Given the description of an element on the screen output the (x, y) to click on. 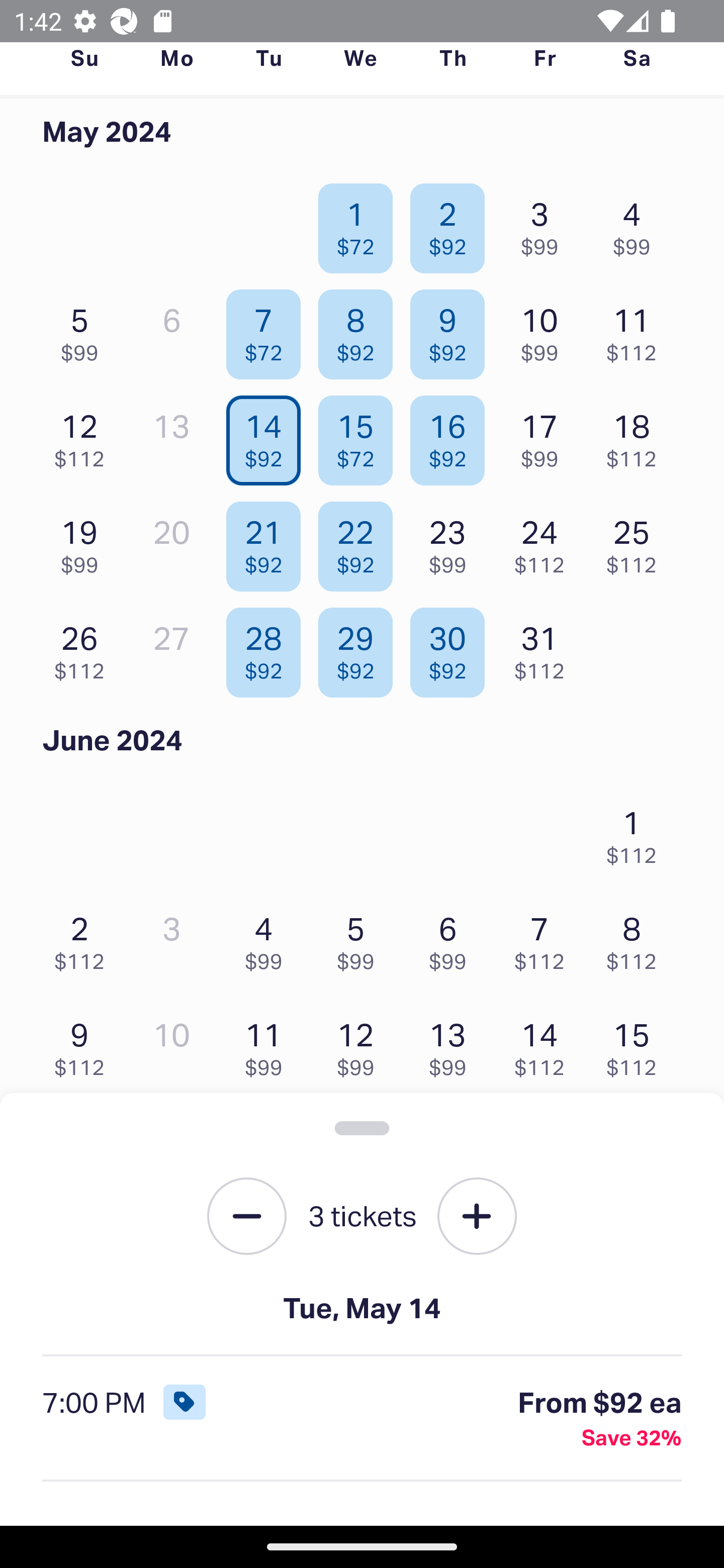
1 $72 (360, 223)
2 $92 (452, 223)
3 $99 (544, 223)
4 $99 (636, 223)
5 $99 (84, 329)
7 $72 (268, 329)
8 $92 (360, 329)
9 $92 (452, 329)
10 $99 (544, 329)
11 $112 (636, 329)
12 $112 (84, 435)
14 $92 (268, 435)
15 $72 (360, 435)
16 $92 (452, 435)
17 $99 (544, 435)
18 $112 (636, 435)
19 $99 (84, 541)
21 $92 (268, 541)
22 $92 (360, 541)
23 $99 (452, 541)
24 $112 (544, 541)
25 $112 (636, 541)
26 $112 (84, 647)
28 $92 (268, 647)
29 $92 (360, 647)
30 $92 (452, 647)
31 $112 (544, 647)
1 $112 (636, 831)
2 $112 (84, 938)
4 $99 (268, 938)
5 $99 (360, 938)
6 $99 (452, 938)
7 $112 (544, 938)
8 $112 (636, 938)
9 $112 (84, 1044)
11 $99 (268, 1044)
12 $99 (360, 1044)
13 $99 (452, 1044)
14 $112 (544, 1044)
15 $112 (636, 1044)
7:00 PM From $92 ea Save 32% (361, 1418)
